Given the description of an element on the screen output the (x, y) to click on. 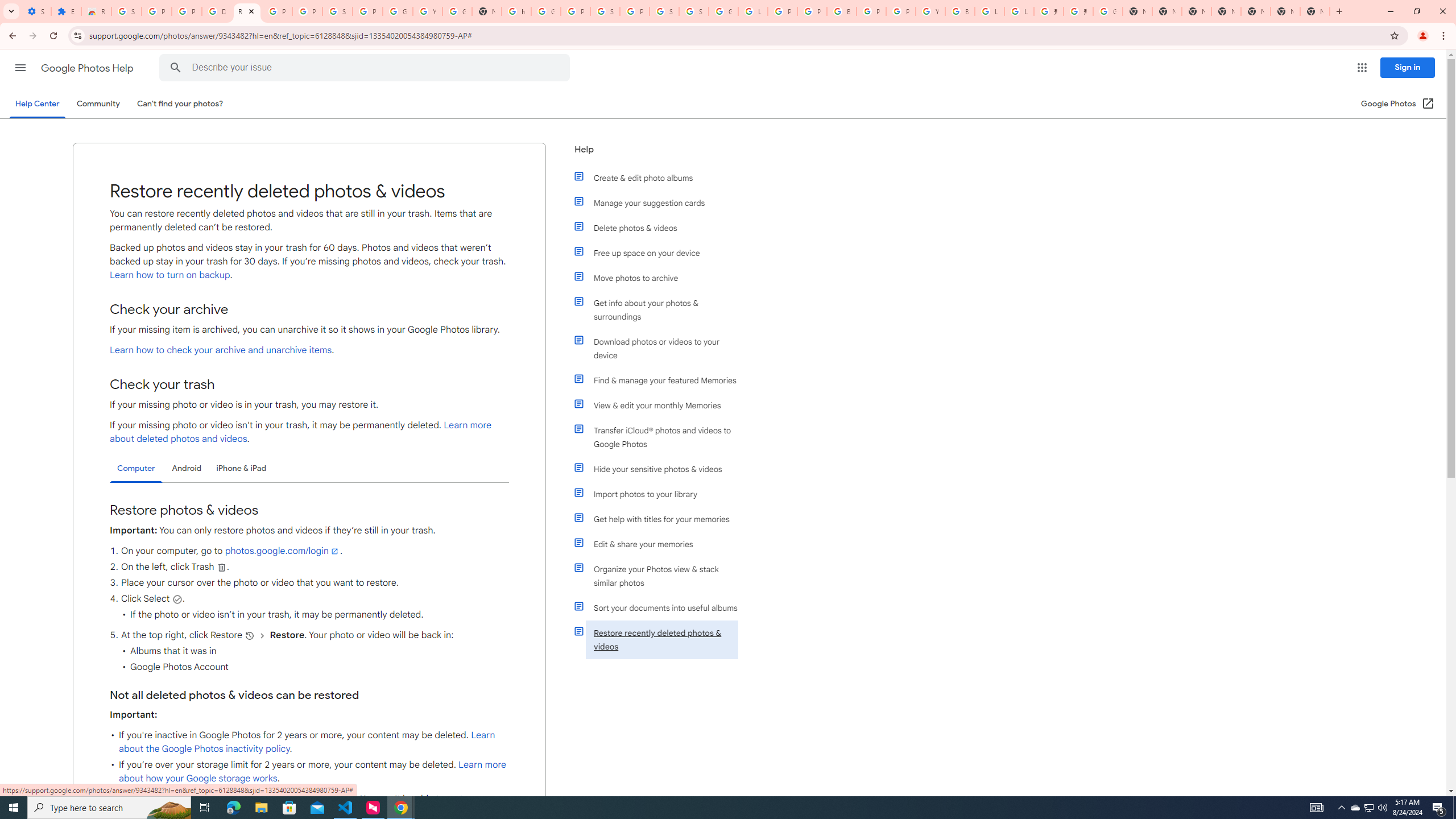
View & edit your monthly Memories (661, 405)
Google Account (397, 11)
Community (97, 103)
New Tab (1314, 11)
Delete photos & videos - Computer - Google Photos Help (216, 11)
Delete photos & videos (661, 227)
Browse Chrome as a guest - Computer - Google Chrome Help (959, 11)
Get help with titles for your memories (661, 518)
Free up space on your device (661, 252)
Android (186, 468)
Google Photos (Open in a new window) (1397, 103)
https://scholar.google.com/ (515, 11)
